Given the description of an element on the screen output the (x, y) to click on. 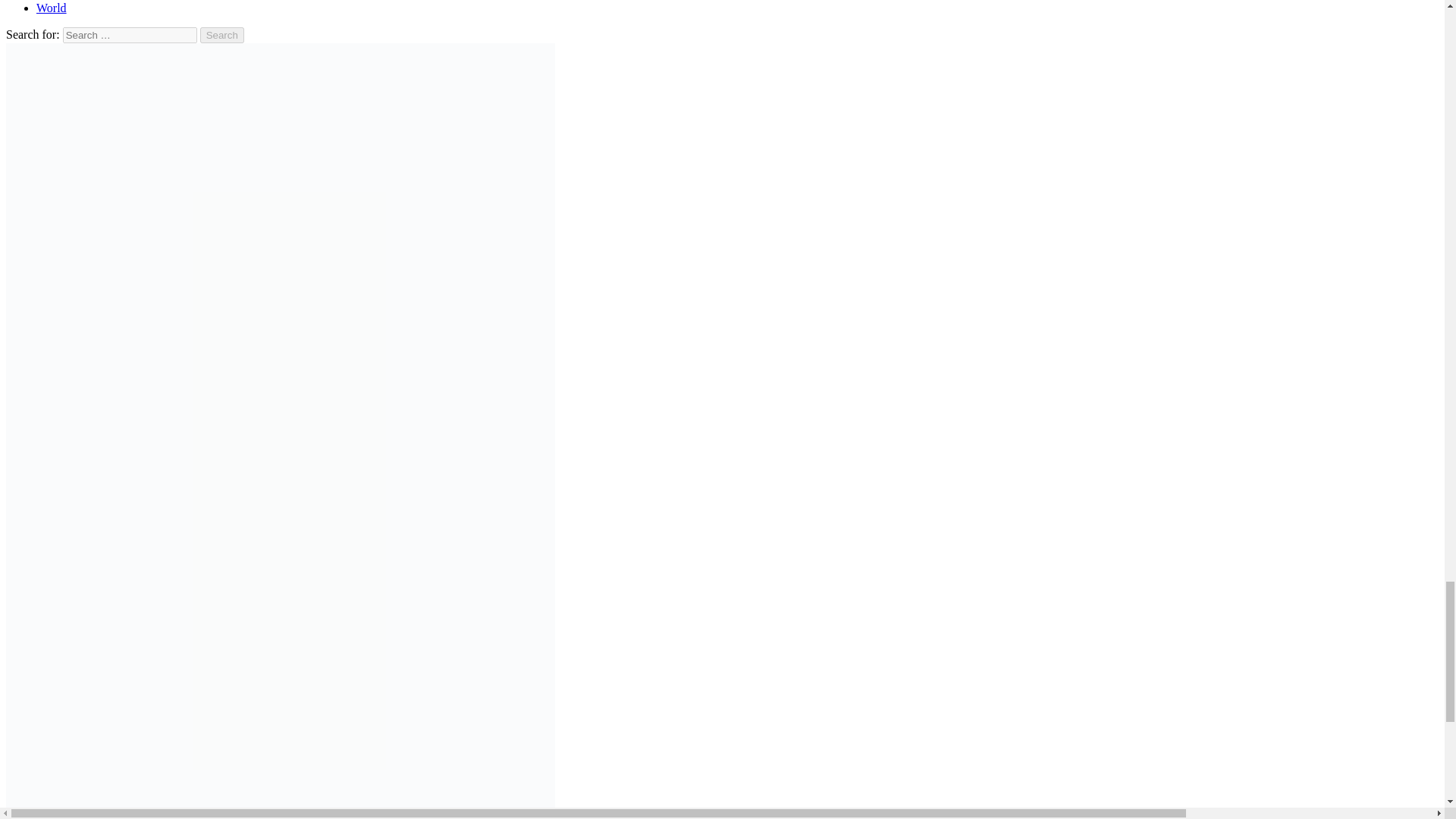
Search (222, 35)
Search (222, 35)
